Given the description of an element on the screen output the (x, y) to click on. 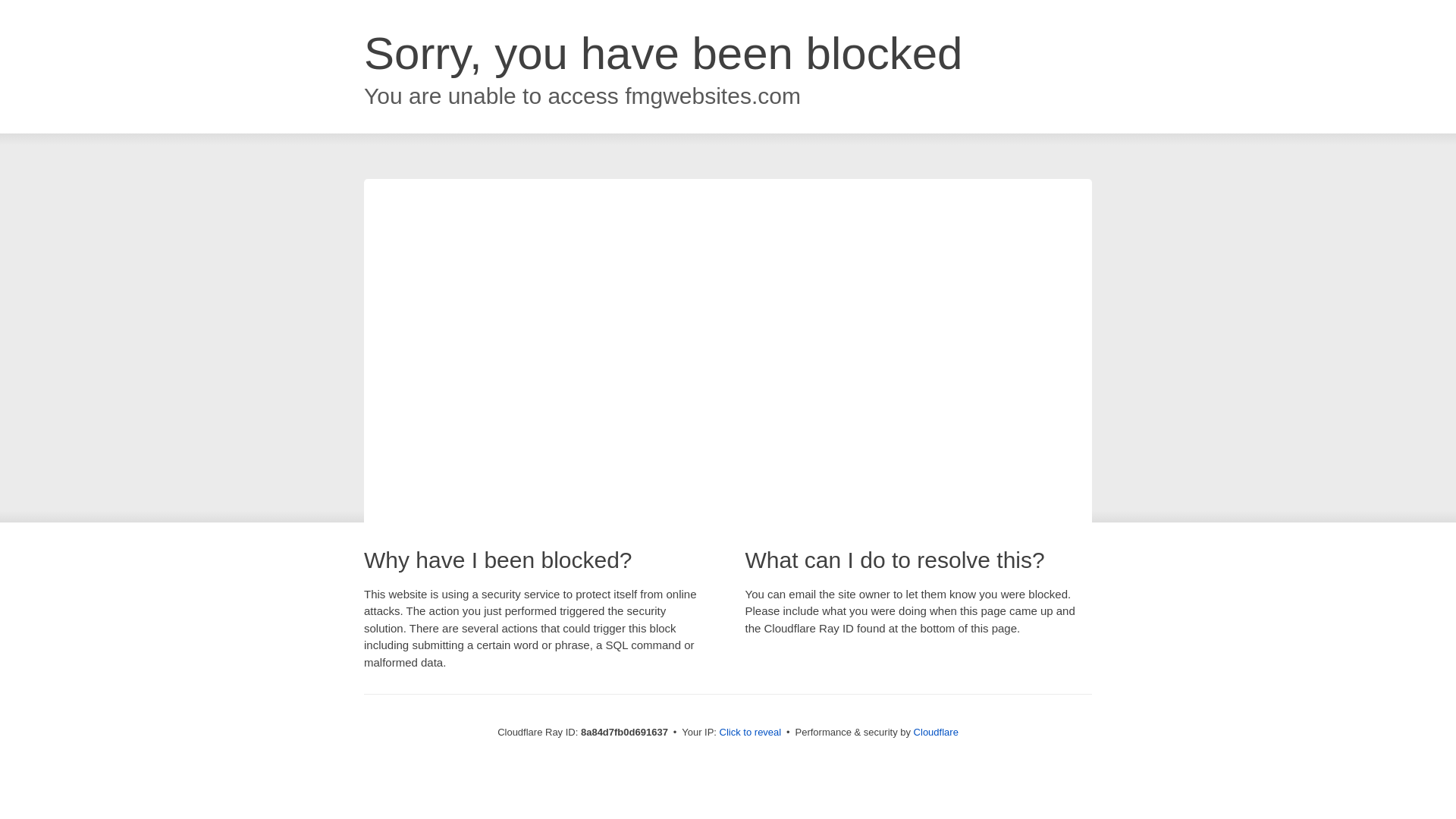
Click to reveal (750, 732)
Cloudflare (936, 731)
